Given the description of an element on the screen output the (x, y) to click on. 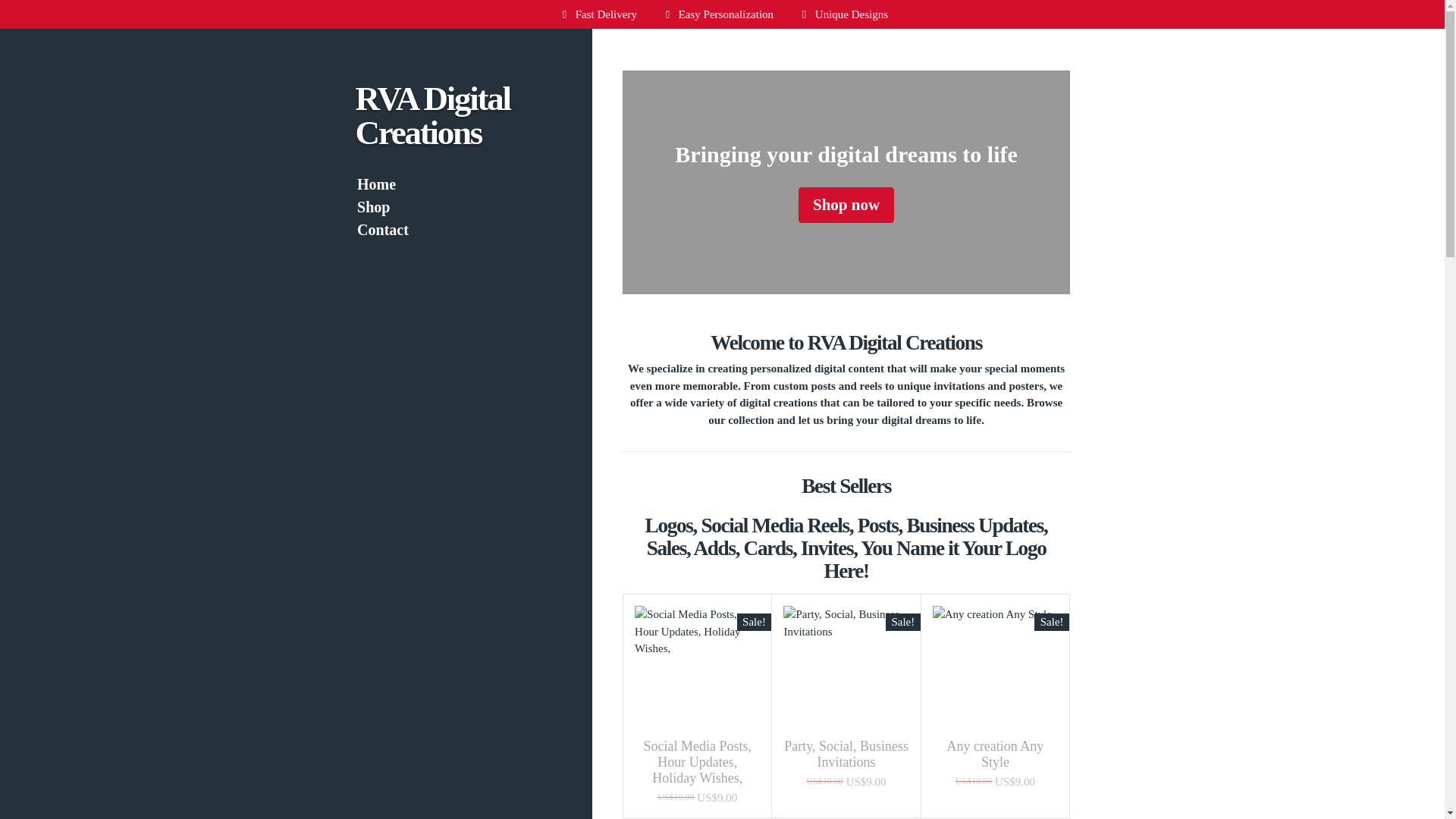
Party, Social, Business Invitations (845, 754)
Home (459, 183)
Social Media Posts, Hour Updates, Holiday Wishes, (697, 762)
Contact (459, 229)
Shop (459, 206)
Any creation Any Style (995, 754)
Shop now (845, 204)
